Given the description of an element on the screen output the (x, y) to click on. 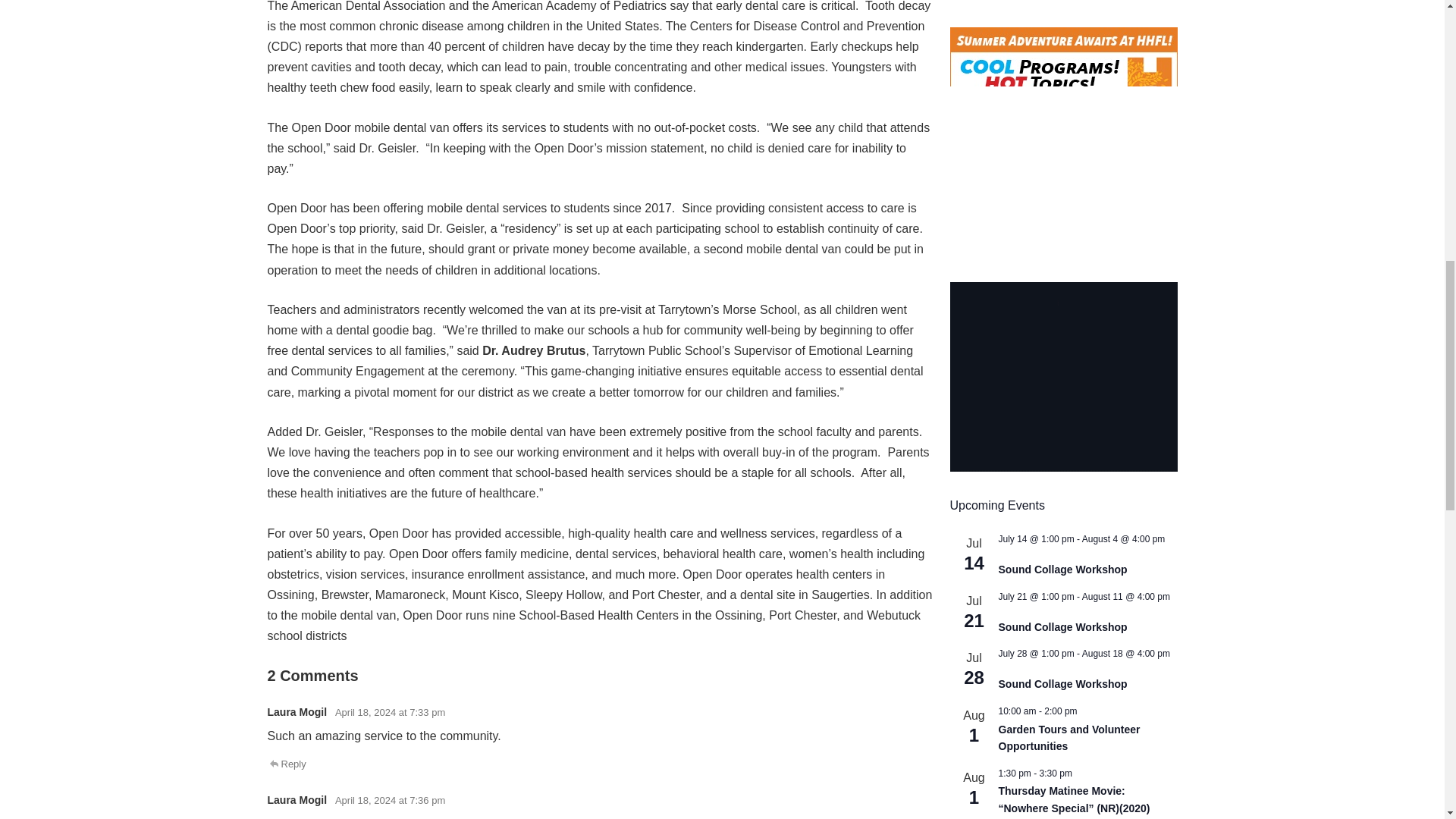
Sound Collage Workshop (1061, 626)
Event Series (1003, 549)
Event Series (1003, 608)
Garden Tours and Volunteer Opportunities (1068, 738)
Event Series (1003, 551)
Event Series (1003, 606)
Sound Collage Workshop (1061, 684)
Event Series (1003, 665)
Event Series (1003, 664)
Sound Collage Workshop (1061, 569)
